Given the description of an element on the screen output the (x, y) to click on. 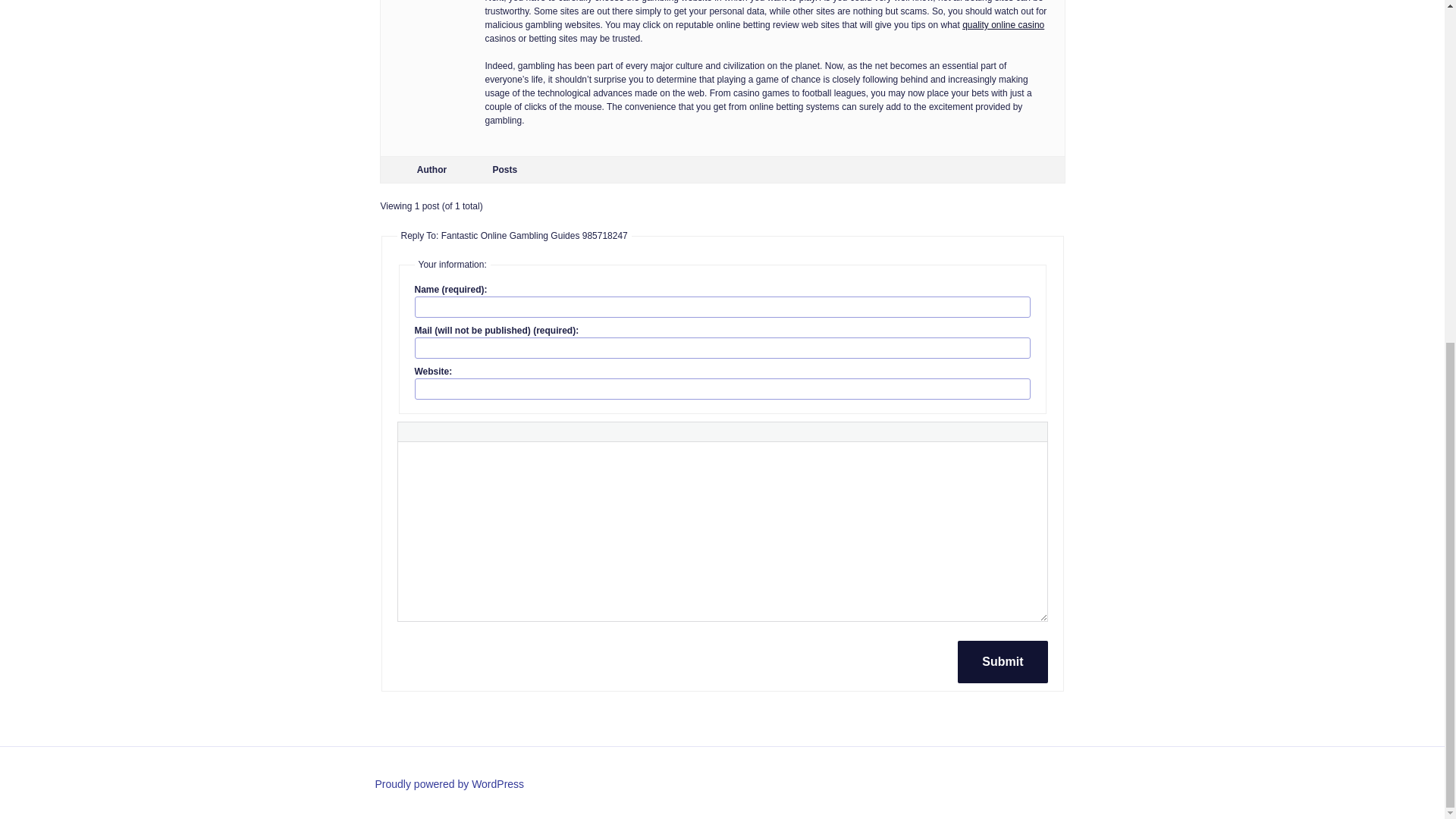
Proudly powered by WordPress (449, 784)
Submit (1002, 661)
quality online casino (1002, 24)
